Given the description of an element on the screen output the (x, y) to click on. 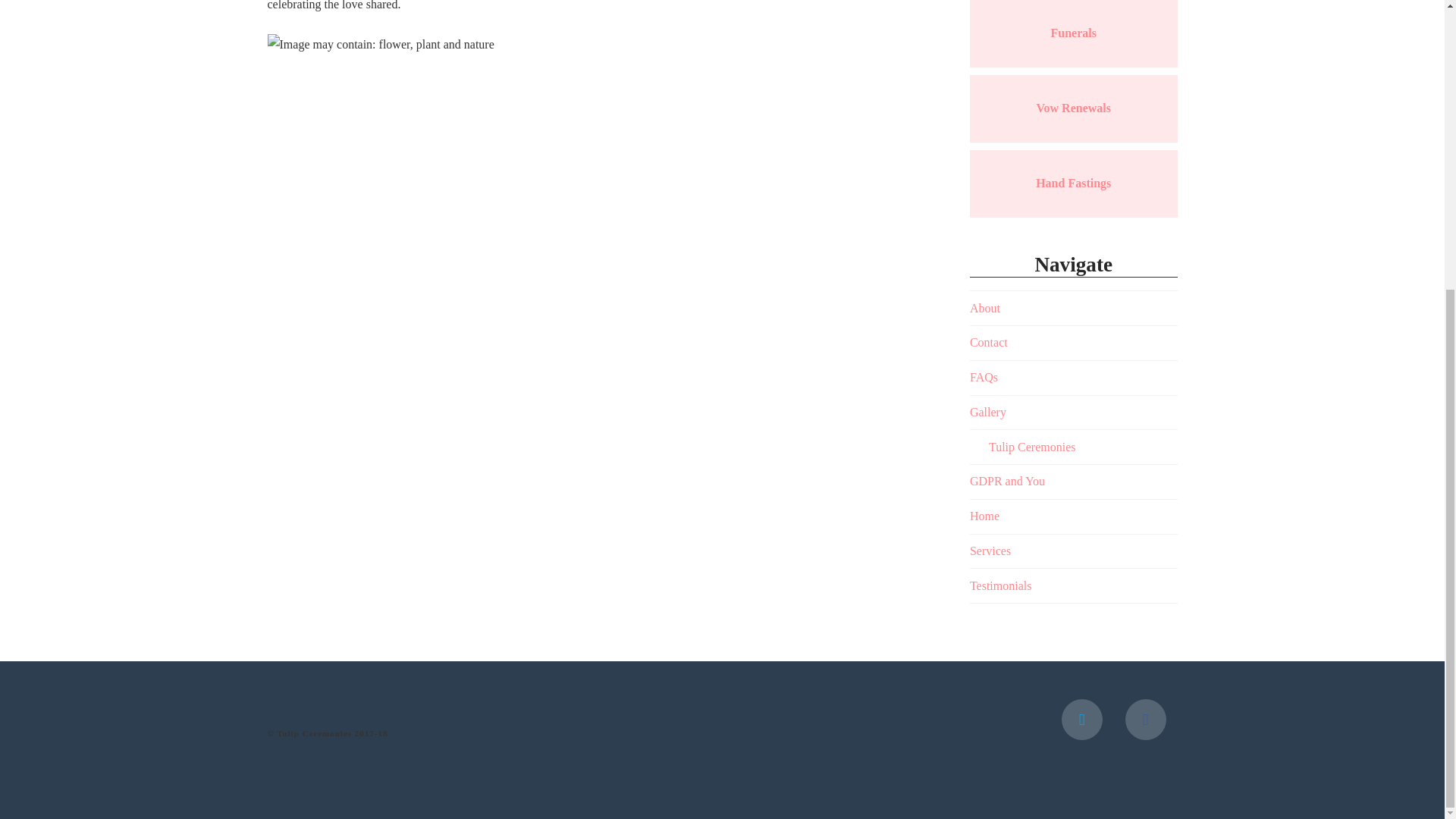
Home (983, 515)
Funerals (1072, 32)
Hand Fastings (1072, 182)
Twitter (1081, 719)
Tulip Ceremonies (1031, 447)
Click to find out more about hand fastings (1072, 182)
GDPR and You (1007, 481)
Gallery (987, 412)
Services (989, 551)
FAQs (983, 377)
